Given the description of an element on the screen output the (x, y) to click on. 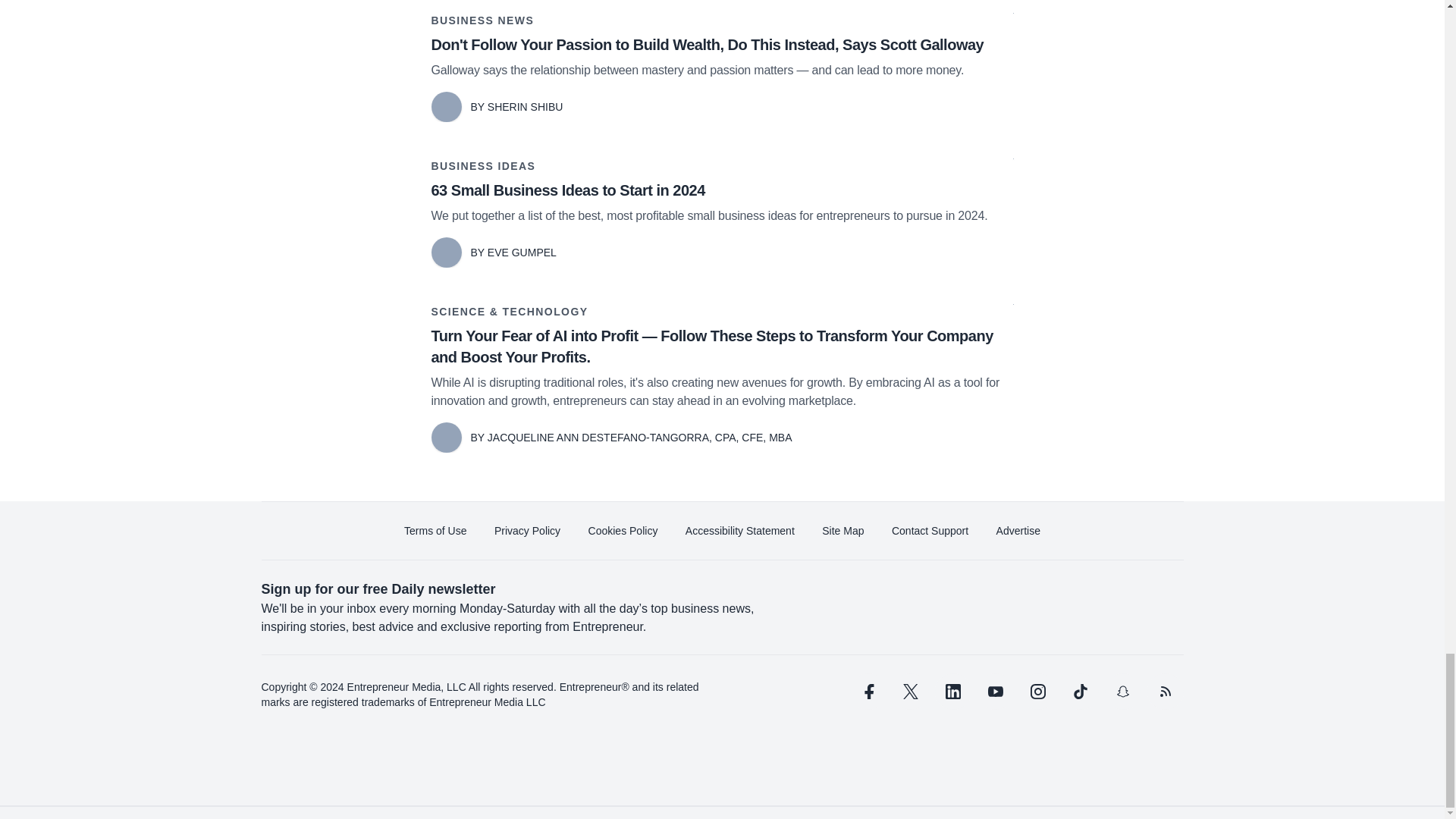
twitter (909, 691)
facebook (866, 691)
instagram (1037, 691)
rss (1164, 691)
snapchat (1121, 691)
linkedin (952, 691)
tiktok (1079, 691)
youtube (994, 691)
